Given the description of an element on the screen output the (x, y) to click on. 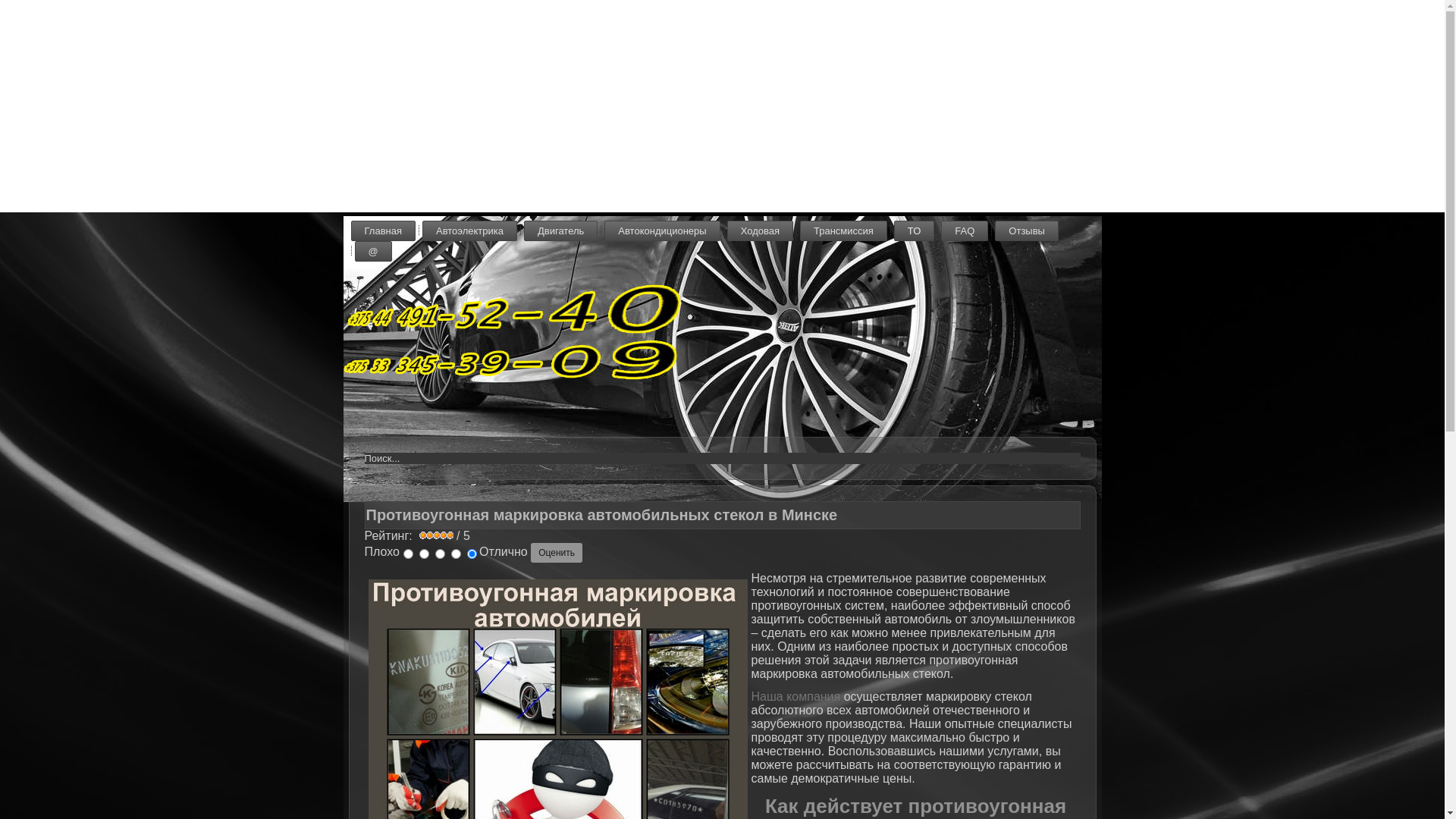
Advertisement Element type: hover (455, 106)
FAQ Element type: text (964, 230)
@ Element type: text (373, 251)
